Given the description of an element on the screen output the (x, y) to click on. 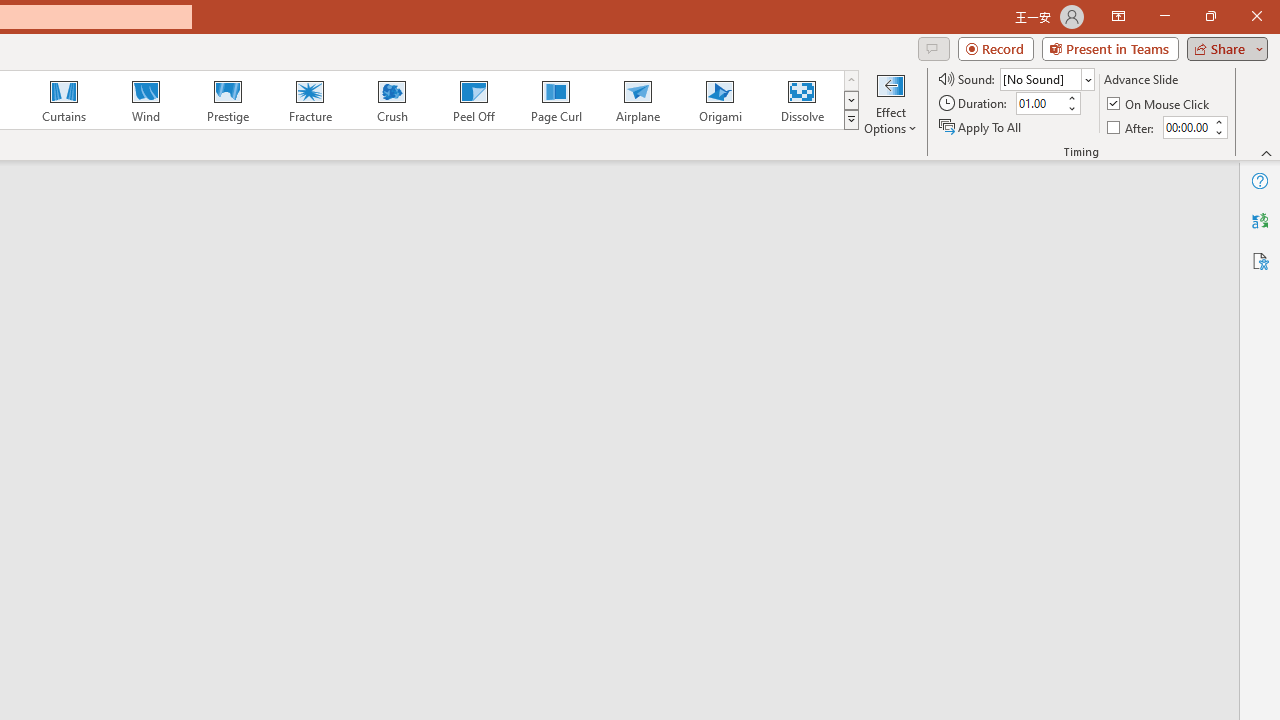
Dissolve (802, 100)
Duration (1039, 103)
Transition Effects (850, 120)
Peel Off (473, 100)
Fracture (309, 100)
Prestige (227, 100)
Crush (391, 100)
Origami (719, 100)
